Given the description of an element on the screen output the (x, y) to click on. 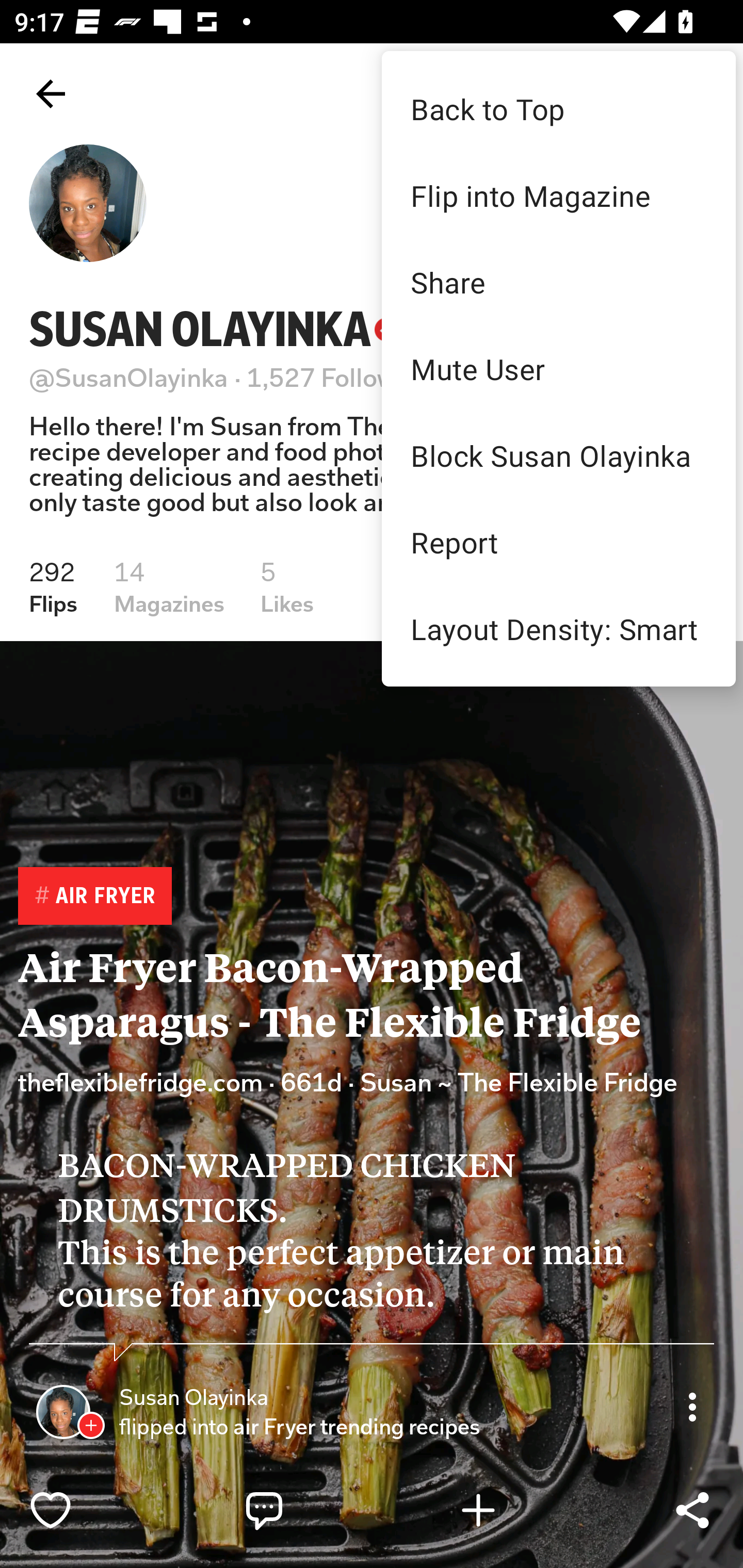
Back to Top (558, 108)
Flip into Magazine (558, 195)
Share (558, 282)
Mute User (558, 369)
Block Susan Olayinka (558, 455)
Report (558, 541)
Layout Density: Smart (558, 628)
